Given the description of an element on the screen output the (x, y) to click on. 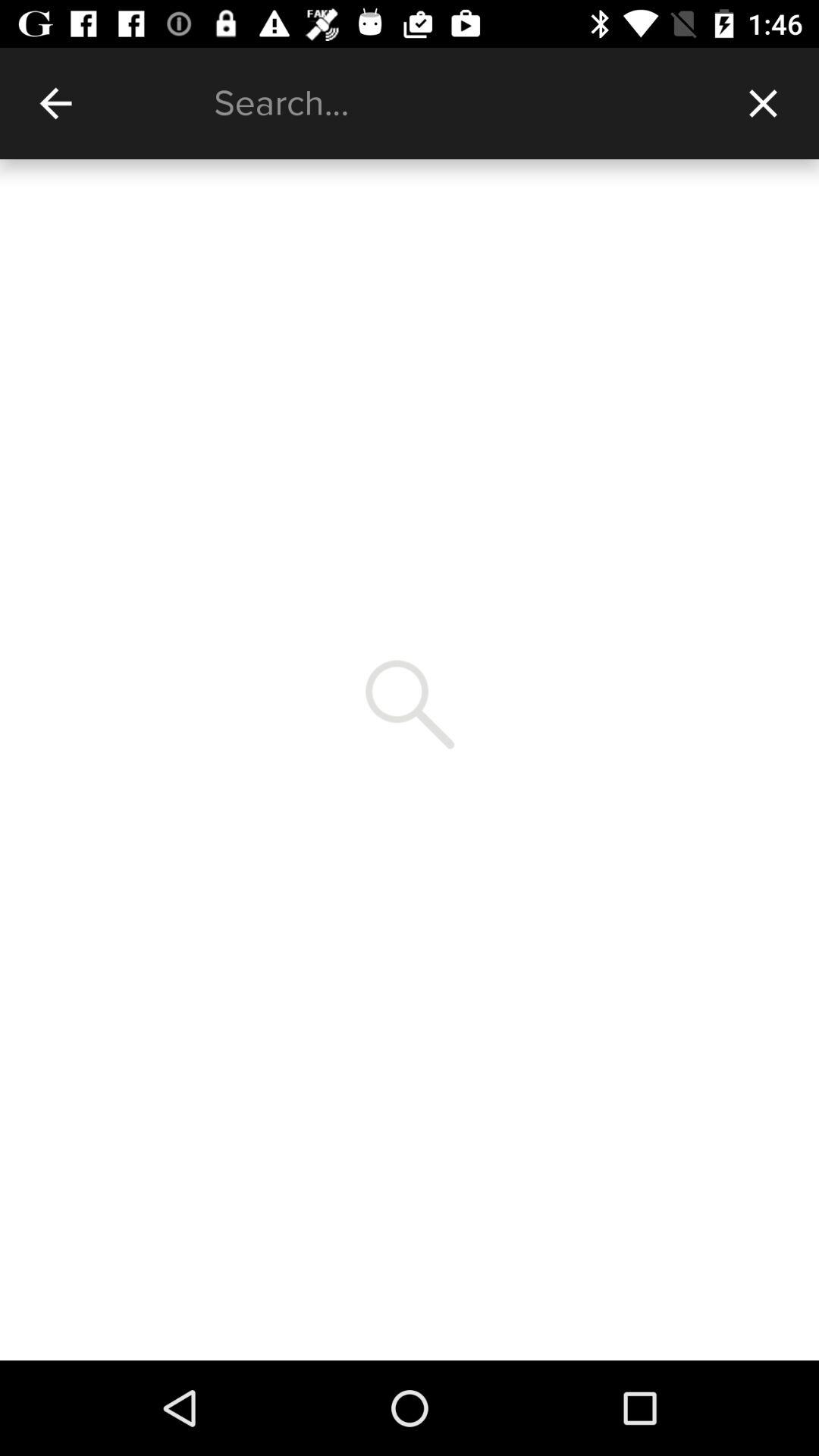
search for a design object (460, 103)
